Given the description of an element on the screen output the (x, y) to click on. 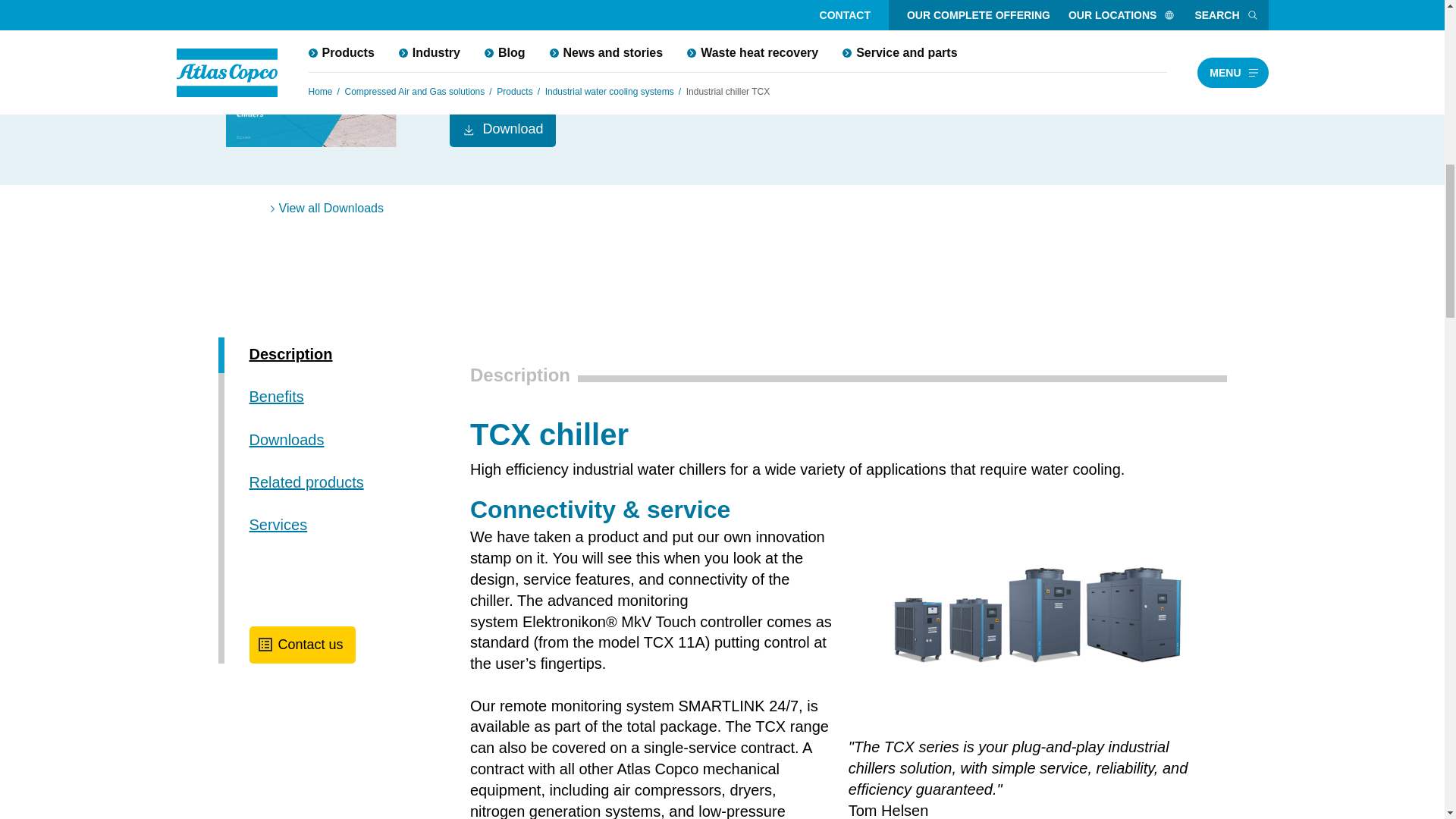
Contact us (301, 644)
